Given the description of an element on the screen output the (x, y) to click on. 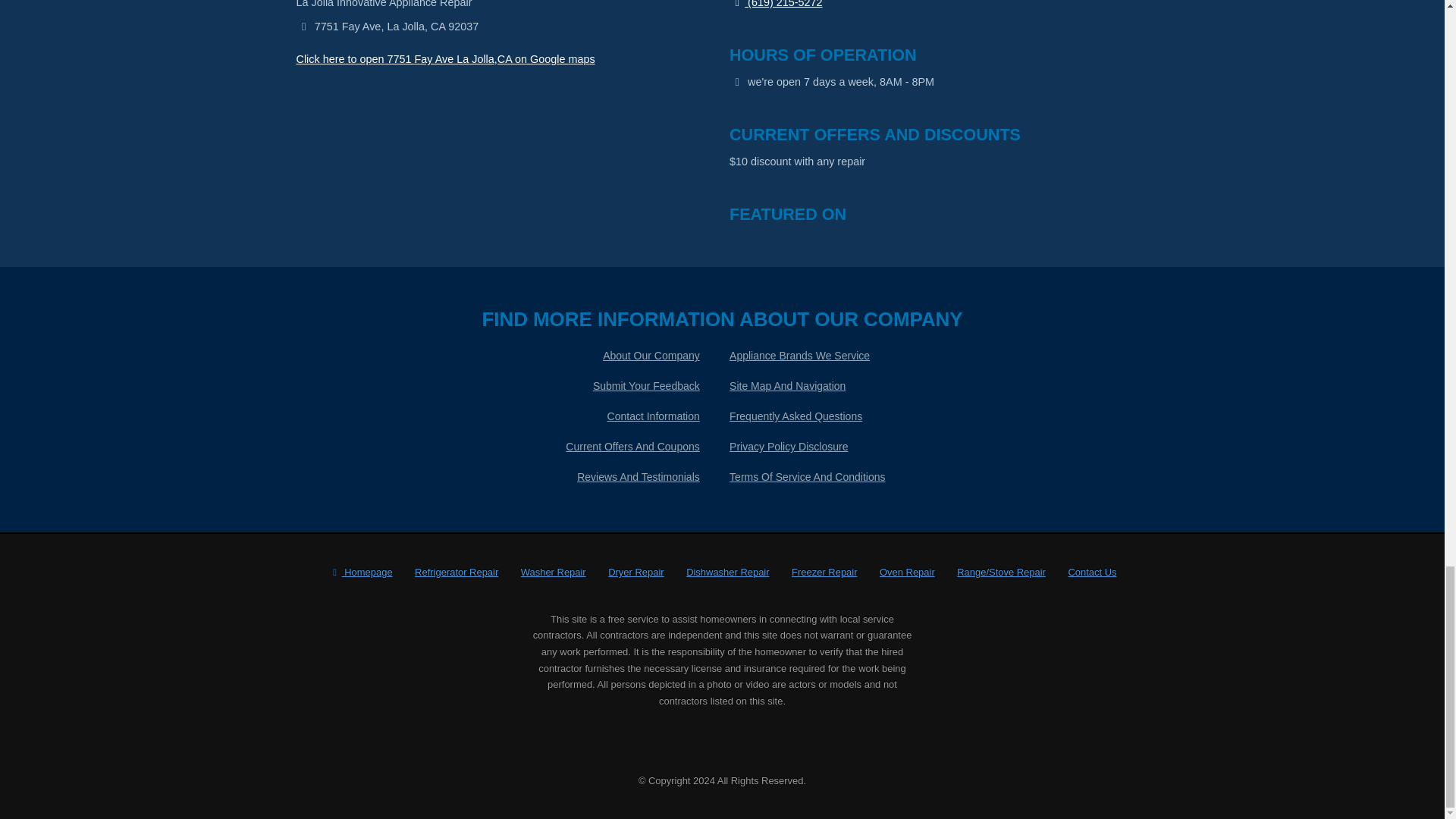
Click here to open 7751 Fay Ave La Jolla,CA on Google maps (444, 59)
